Given the description of an element on the screen output the (x, y) to click on. 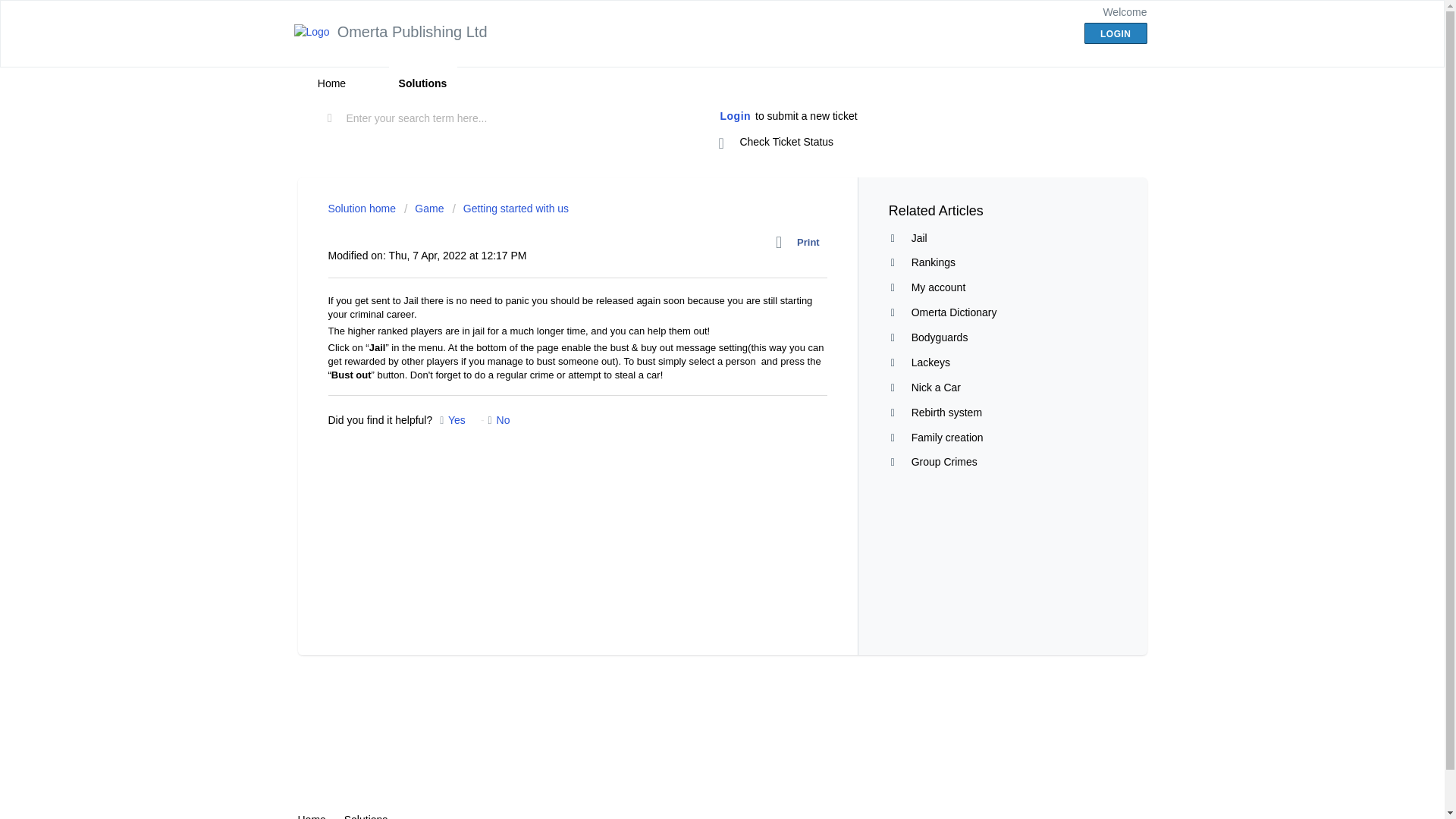
Solutions (422, 83)
My account (938, 287)
Game (424, 208)
Jail (919, 237)
Login (735, 116)
Home (331, 83)
Rankings (933, 262)
Getting started with us (510, 208)
Solution home (362, 208)
Bodyguards (939, 337)
